Given the description of an element on the screen output the (x, y) to click on. 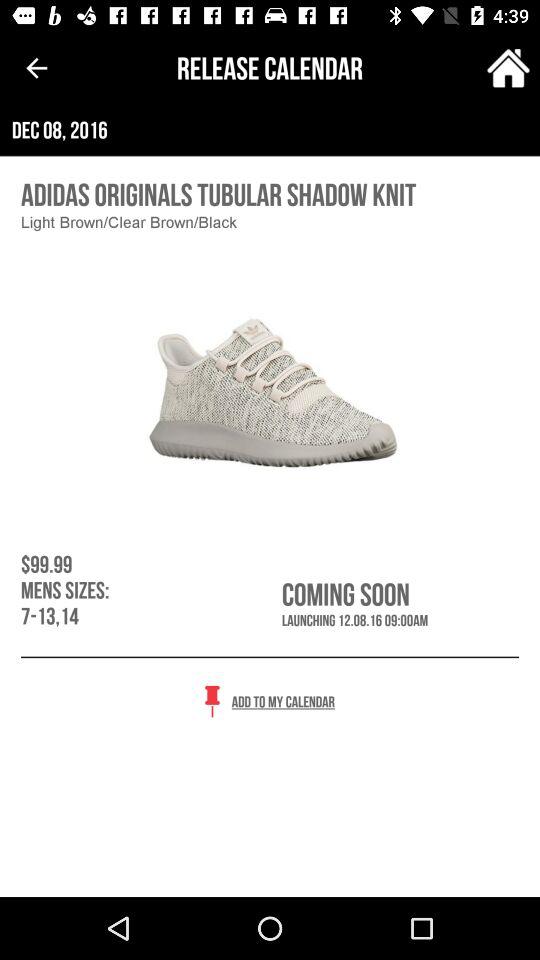
open the icon above dec 08, 2016 item (508, 67)
